Given the description of an element on the screen output the (x, y) to click on. 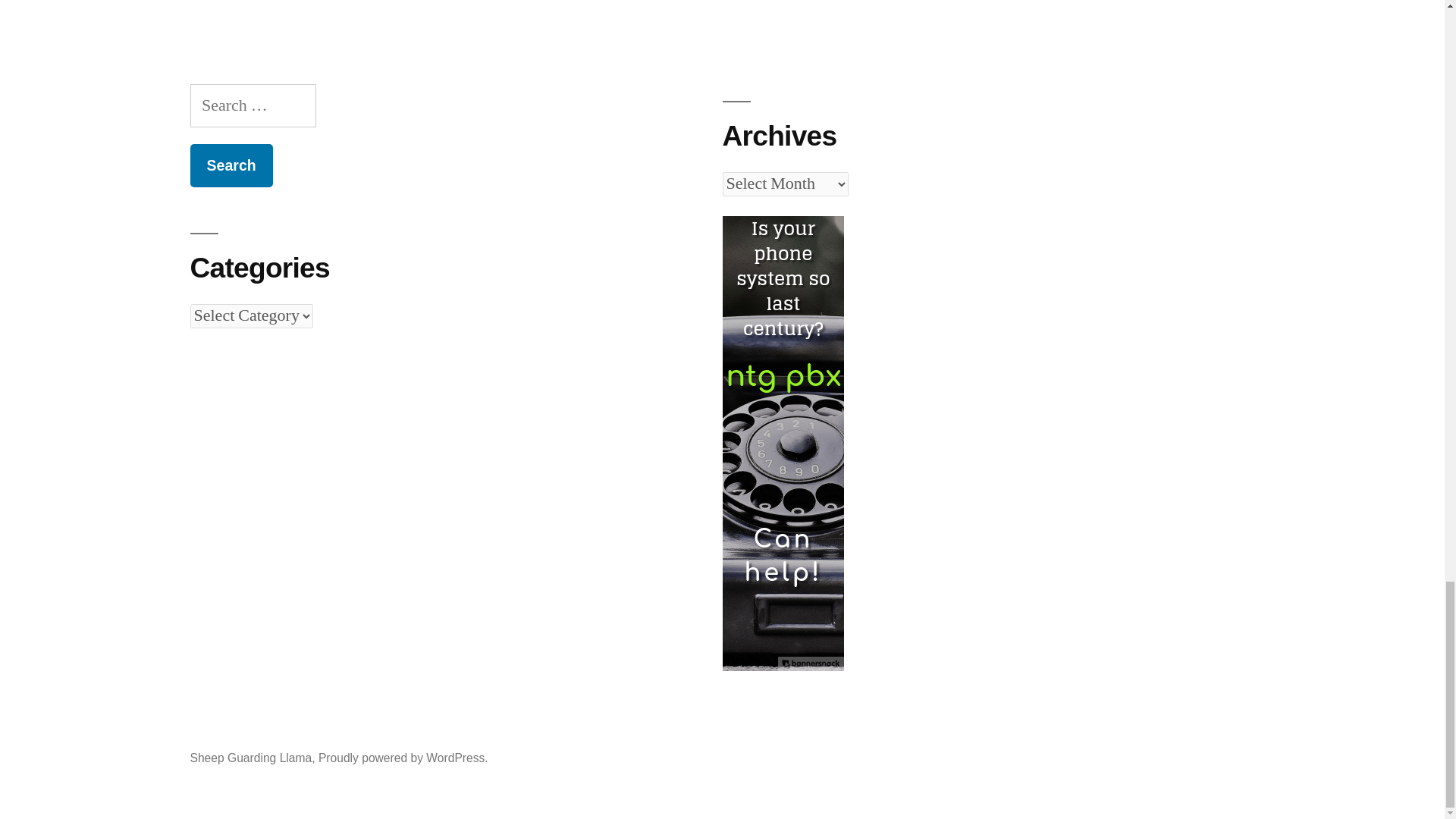
Search (230, 165)
Search (230, 165)
Sheep Guarding Llama (250, 757)
Search (230, 165)
Proudly powered by WordPress. (402, 757)
